Given the description of an element on the screen output the (x, y) to click on. 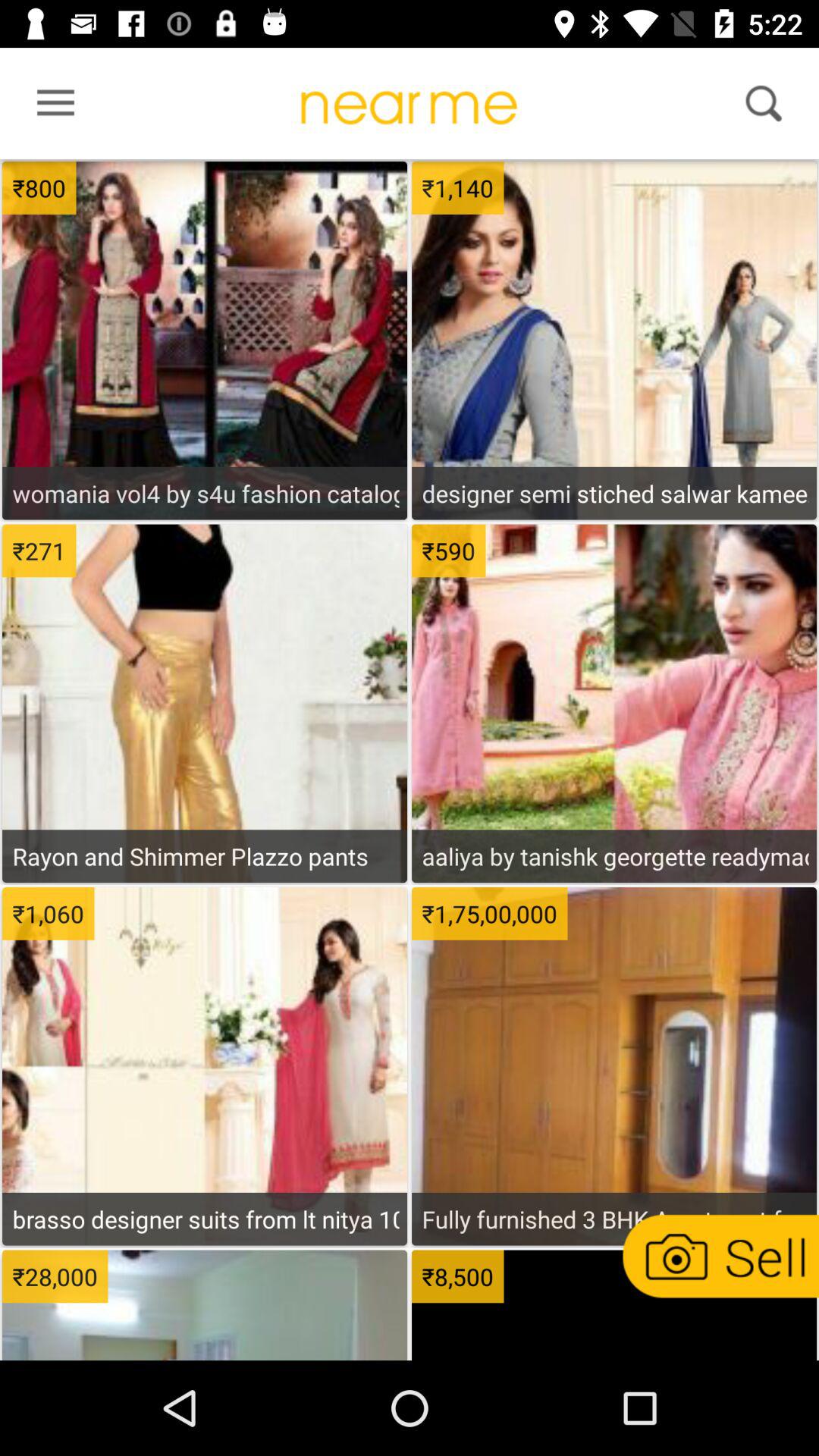
swipe to the brasso designer suits (204, 1218)
